Given the description of an element on the screen output the (x, y) to click on. 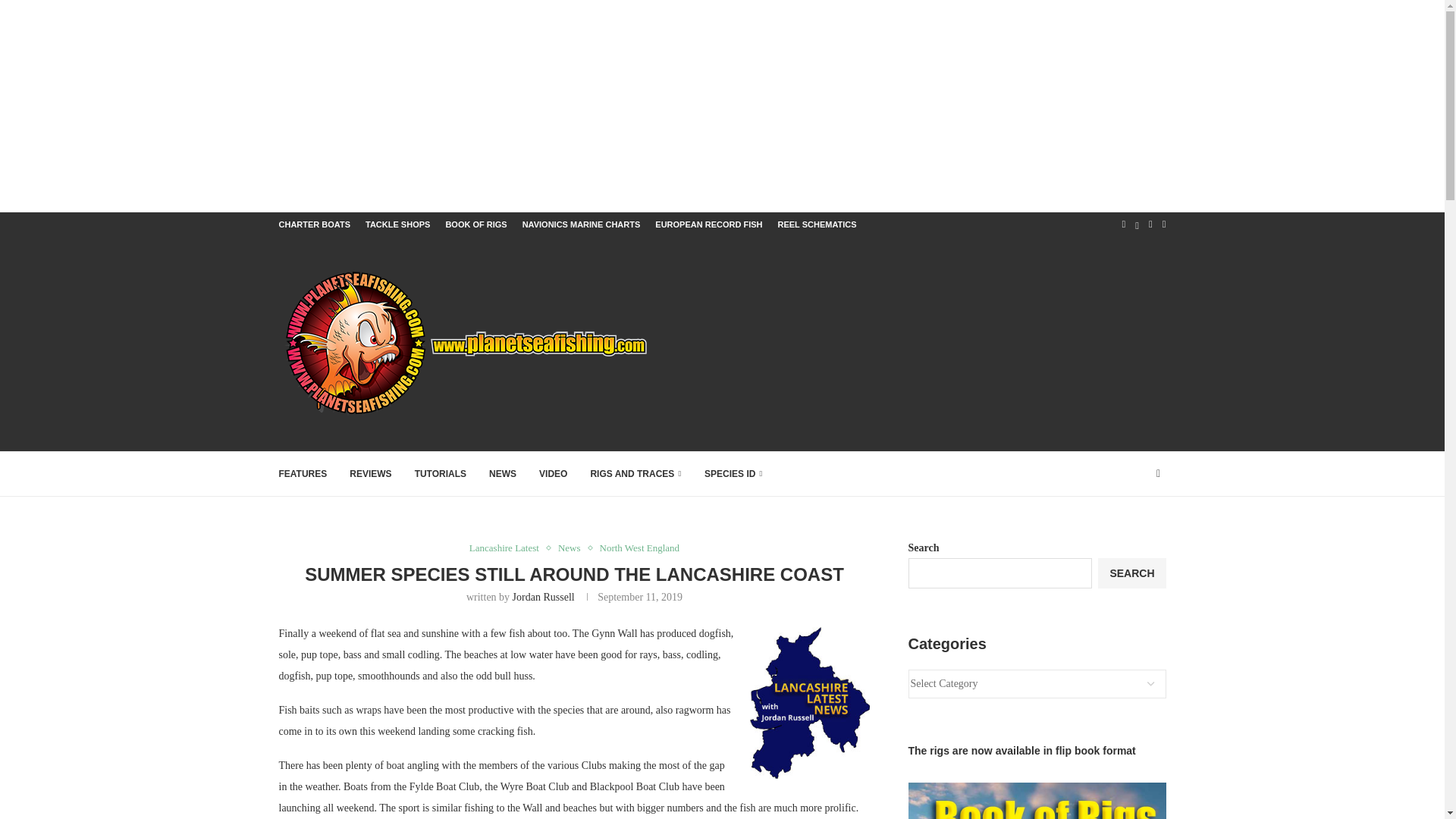
BOOK OF RIGS (475, 224)
REVIEWS (370, 474)
TUTORIALS (439, 474)
News (572, 548)
Jordan Russell (543, 596)
North West England (639, 548)
RIGS AND TRACES (635, 474)
SPECIES ID (733, 474)
Lancashire Latest (507, 548)
REEL SCHEMATICS (816, 224)
